Given the description of an element on the screen output the (x, y) to click on. 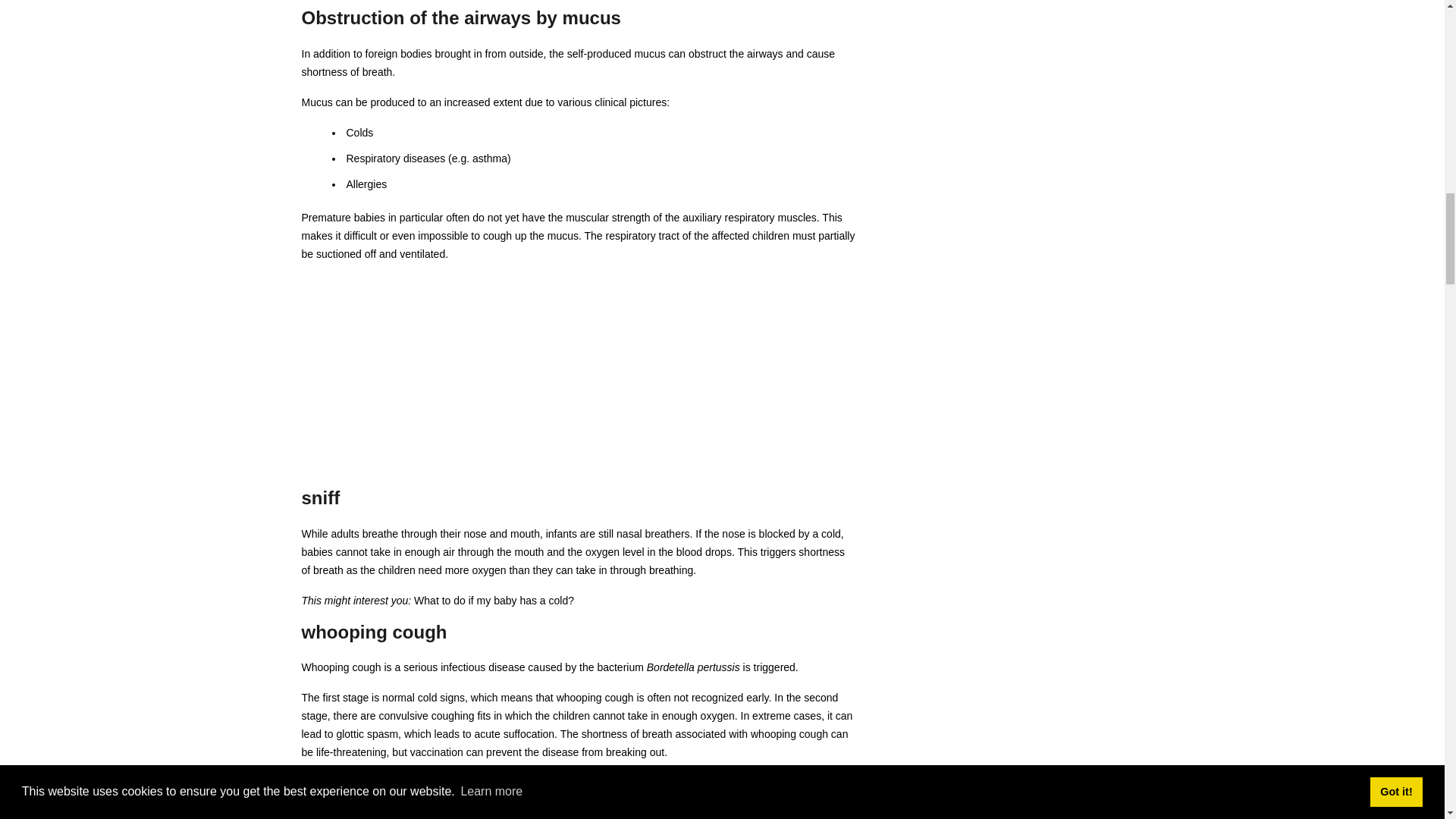
Advertisement (578, 381)
